Given the description of an element on the screen output the (x, y) to click on. 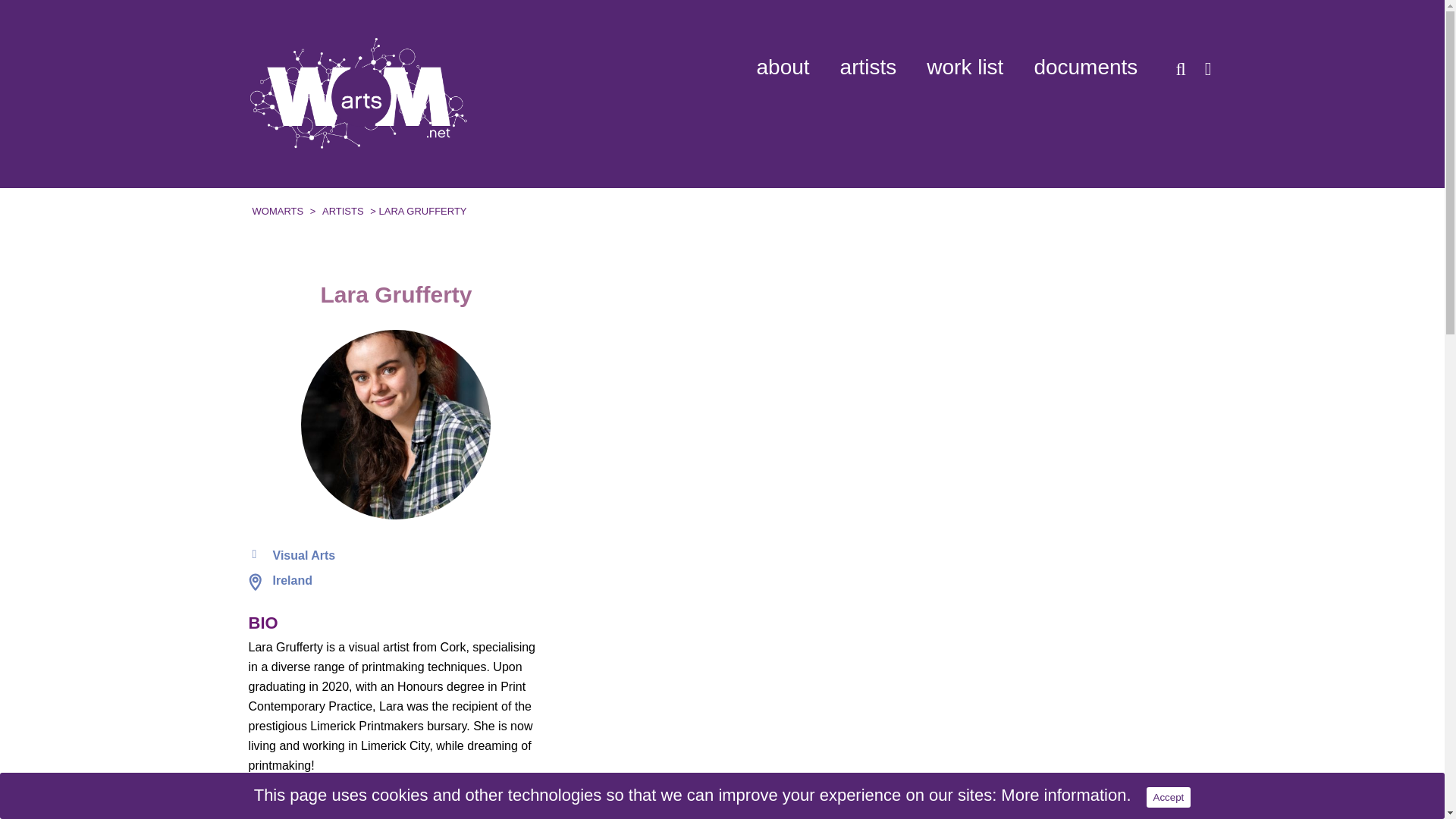
documents (1085, 67)
More information. (1066, 794)
Lara Grufferty (395, 424)
about (783, 67)
artists (868, 67)
Accept (1169, 797)
Ireland (293, 580)
Go to Womarts. (276, 211)
ARTISTS (342, 211)
Go to artists. (342, 211)
WOMARTS (276, 211)
work list (964, 67)
Visual Arts (304, 554)
